Given the description of an element on the screen output the (x, y) to click on. 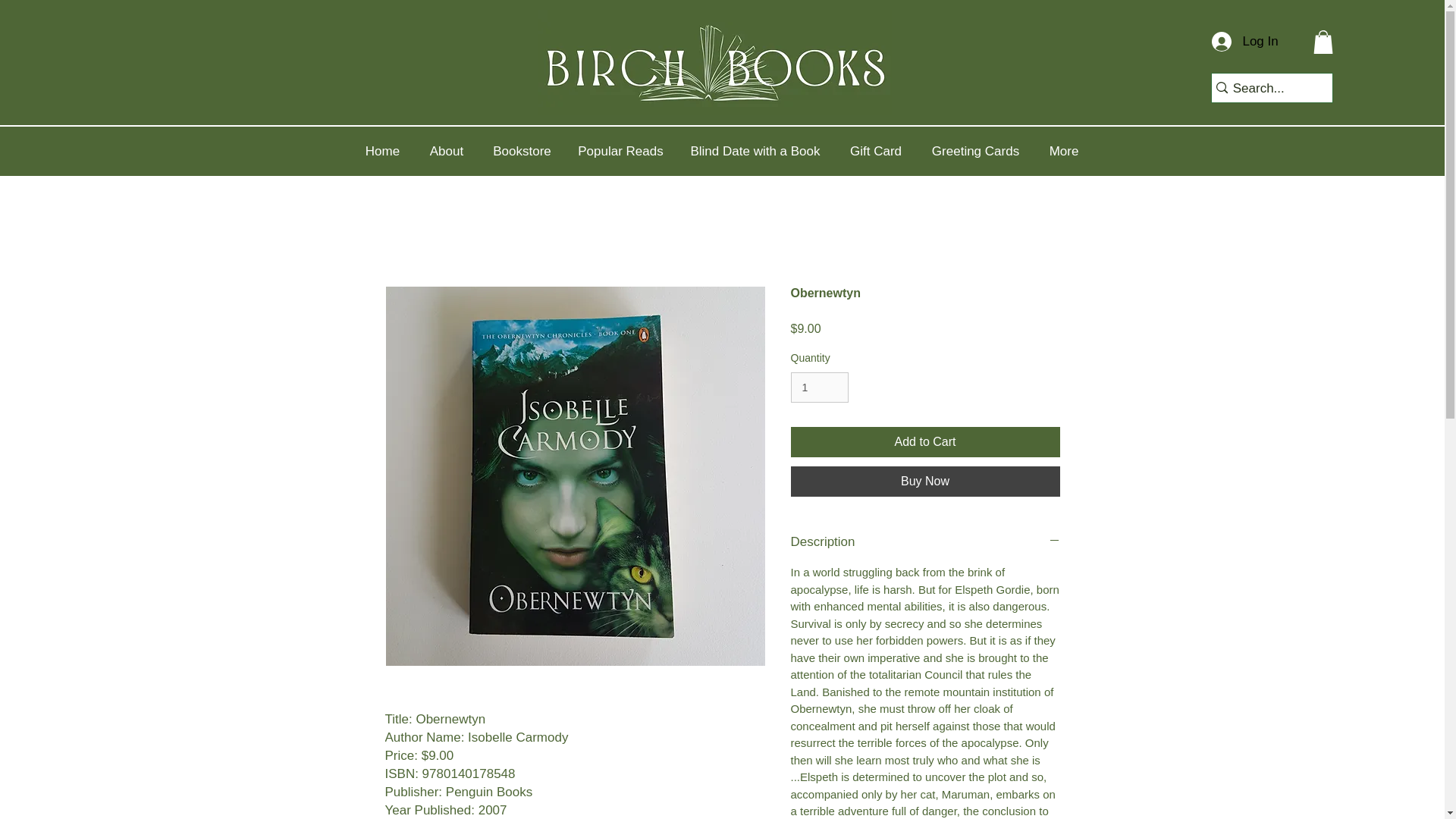
1 (818, 387)
Add to Cart (924, 441)
Log In (1237, 41)
Popular Reads (621, 151)
Description (924, 542)
Blind Date with a Book (755, 151)
Bookstore (522, 151)
About (446, 151)
Buy Now (924, 481)
Greeting Cards (975, 151)
Gift Card (875, 151)
Home (381, 151)
